Given the description of an element on the screen output the (x, y) to click on. 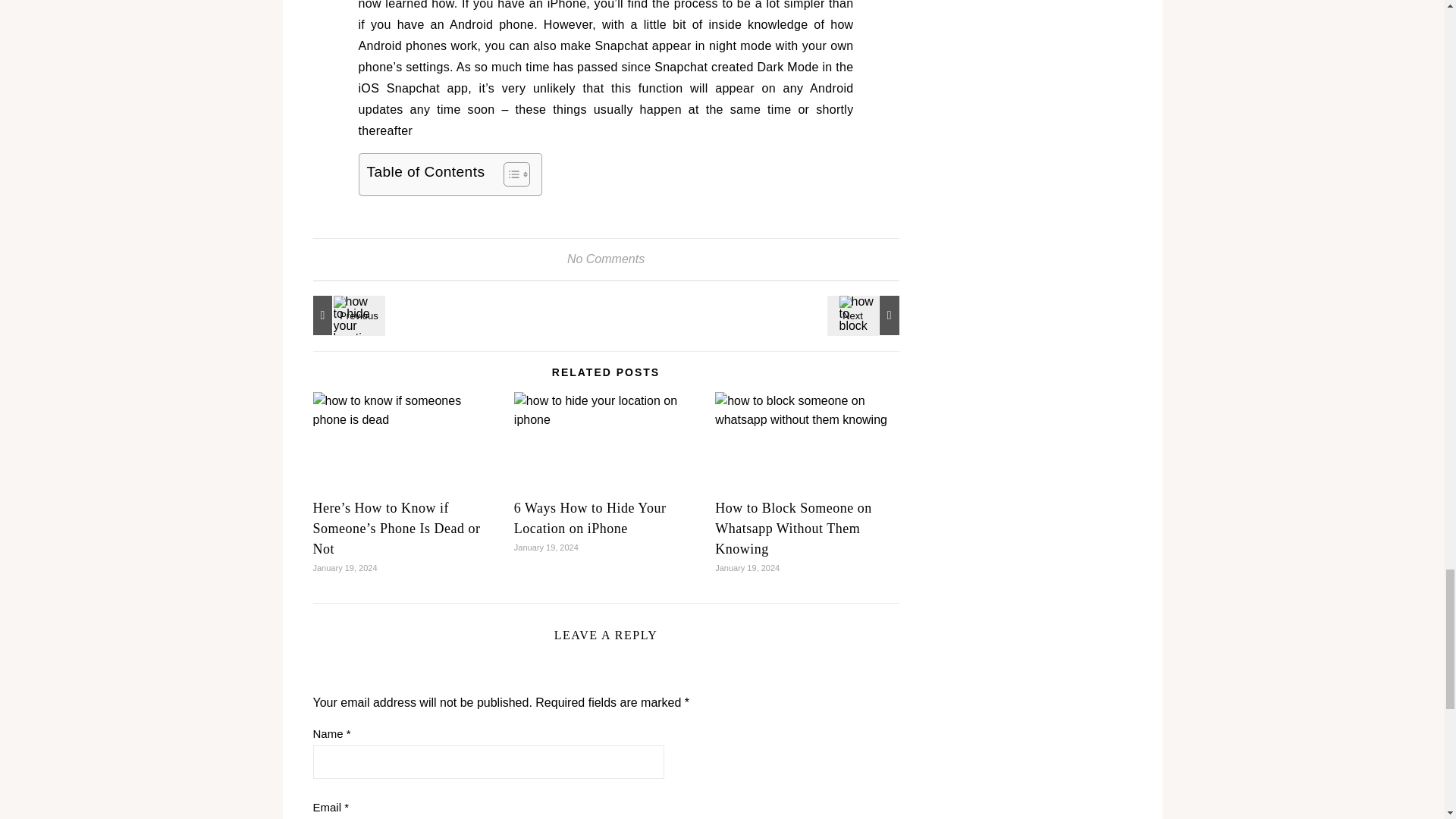
6 Ways How to Hide Your Location on iPhone (346, 314)
6 Ways How to Hide Your Location on iPhone (589, 518)
How to Block Someone on Whatsapp Without Them Knowing (865, 314)
No Comments (606, 258)
How to Block Someone on Whatsapp Without Them Knowing (793, 528)
